Given the description of an element on the screen output the (x, y) to click on. 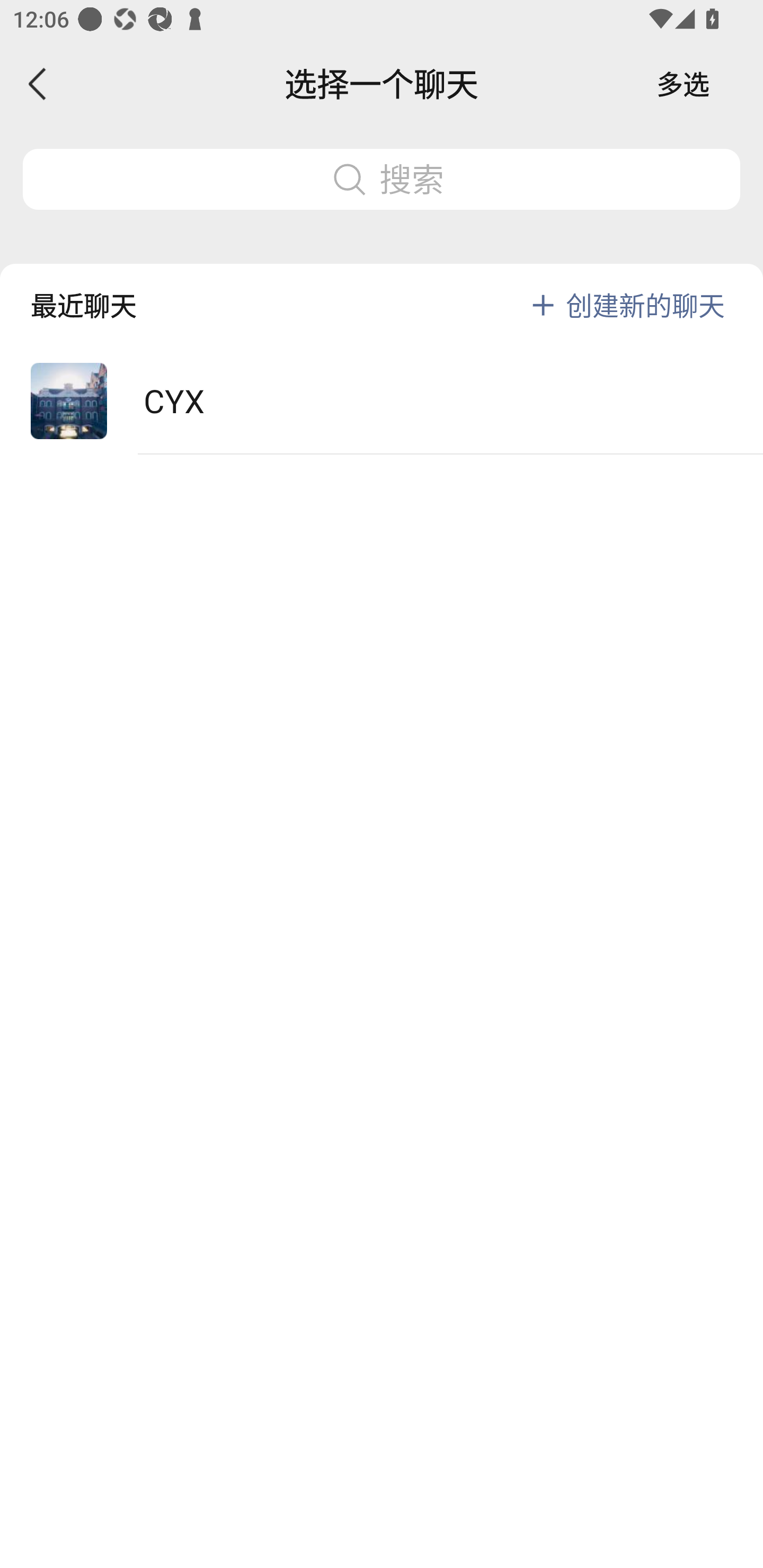
返回 (38, 83)
多选 (683, 83)
最近聊天 创建新的聊天 (381, 290)
创建新的聊天 (645, 304)
CYX (381, 401)
